Given the description of an element on the screen output the (x, y) to click on. 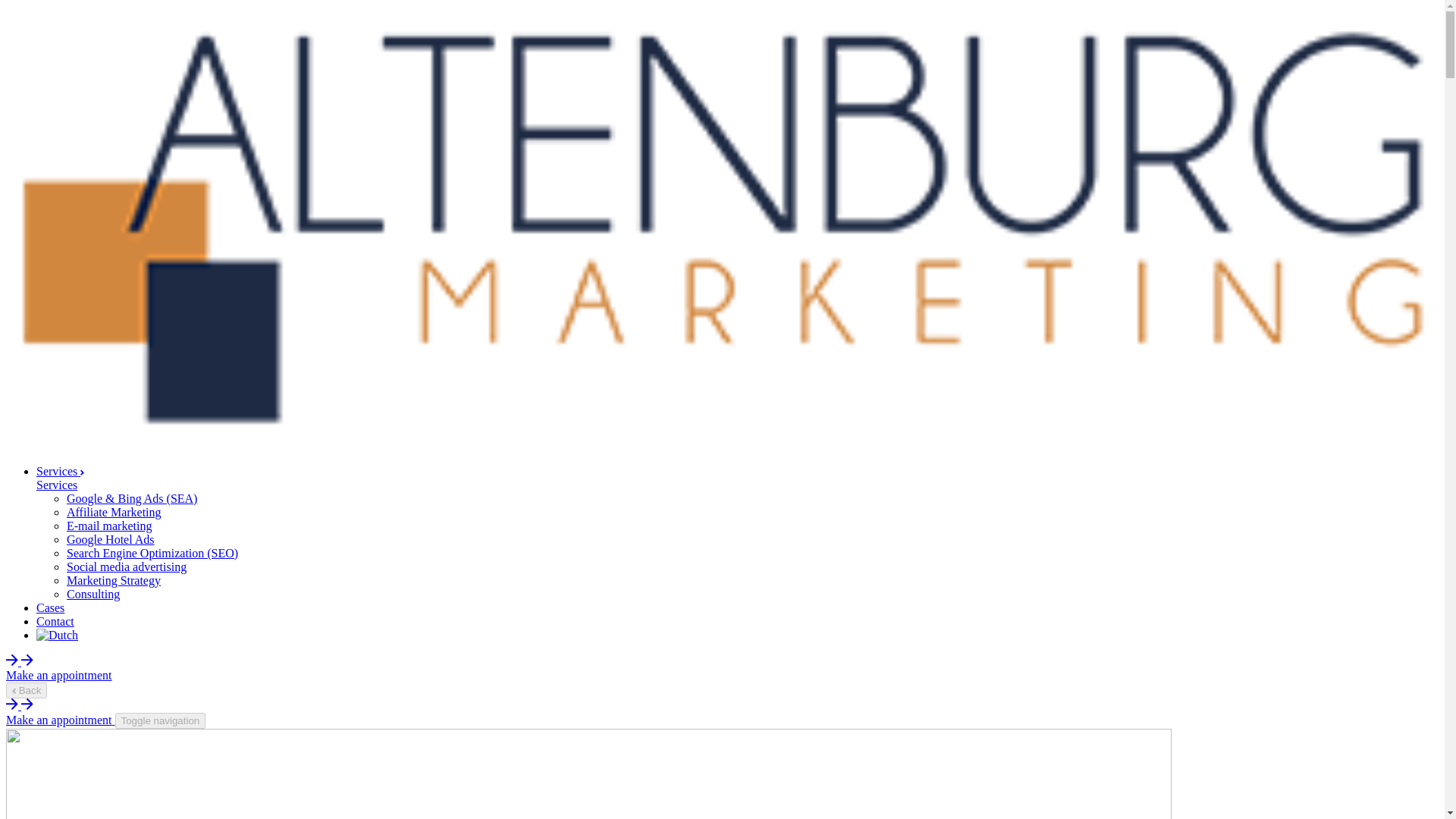
E-mail marketing (108, 525)
Social media advertising (126, 566)
Affiliate Marketing (113, 512)
Toggle navigation (160, 720)
Google Hotel Ads (110, 539)
Marketing Strategy (113, 580)
Services (56, 484)
Cases (50, 607)
Consulting (92, 594)
Services (60, 471)
Back (25, 690)
Contact (55, 621)
